Given the description of an element on the screen output the (x, y) to click on. 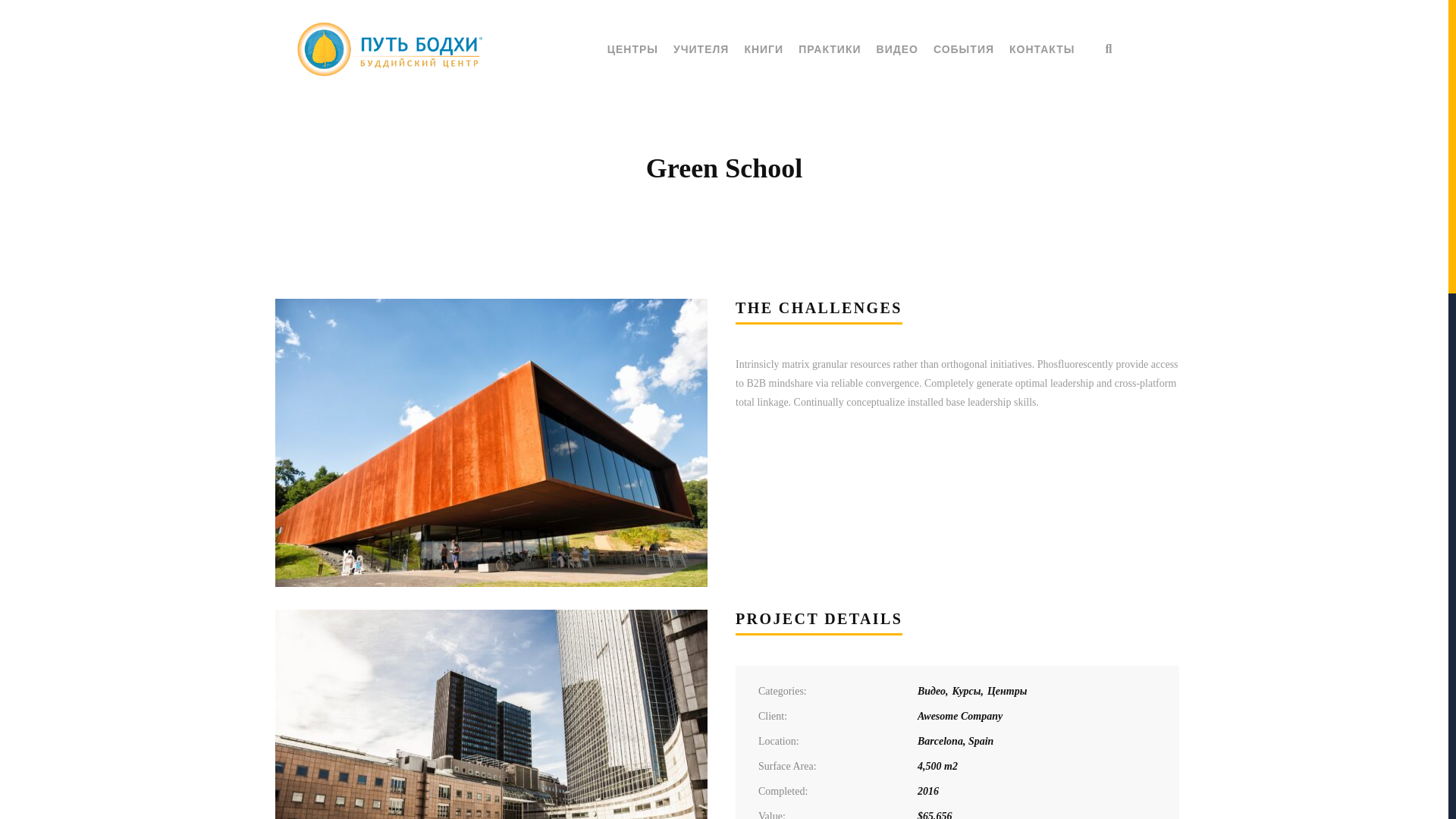
Glauberg, Museum of Celtic history, Hessen, Germany (490, 442)
